Given the description of an element on the screen output the (x, y) to click on. 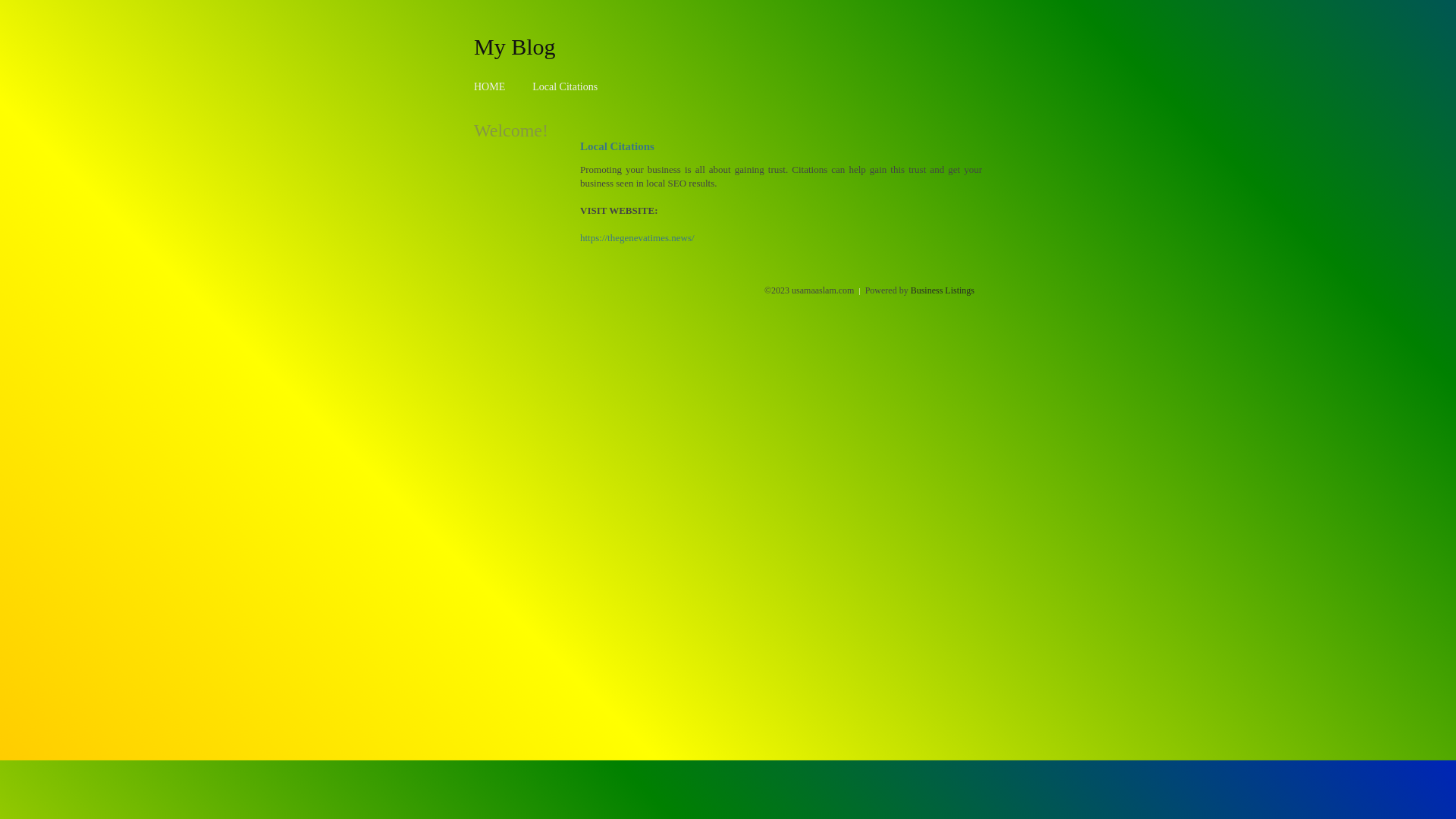
Business Listings Element type: text (942, 290)
https://thegenevatimes.news/ Element type: text (637, 237)
HOME Element type: text (489, 86)
Local Citations Element type: text (564, 86)
My Blog Element type: text (514, 46)
